Given the description of an element on the screen output the (x, y) to click on. 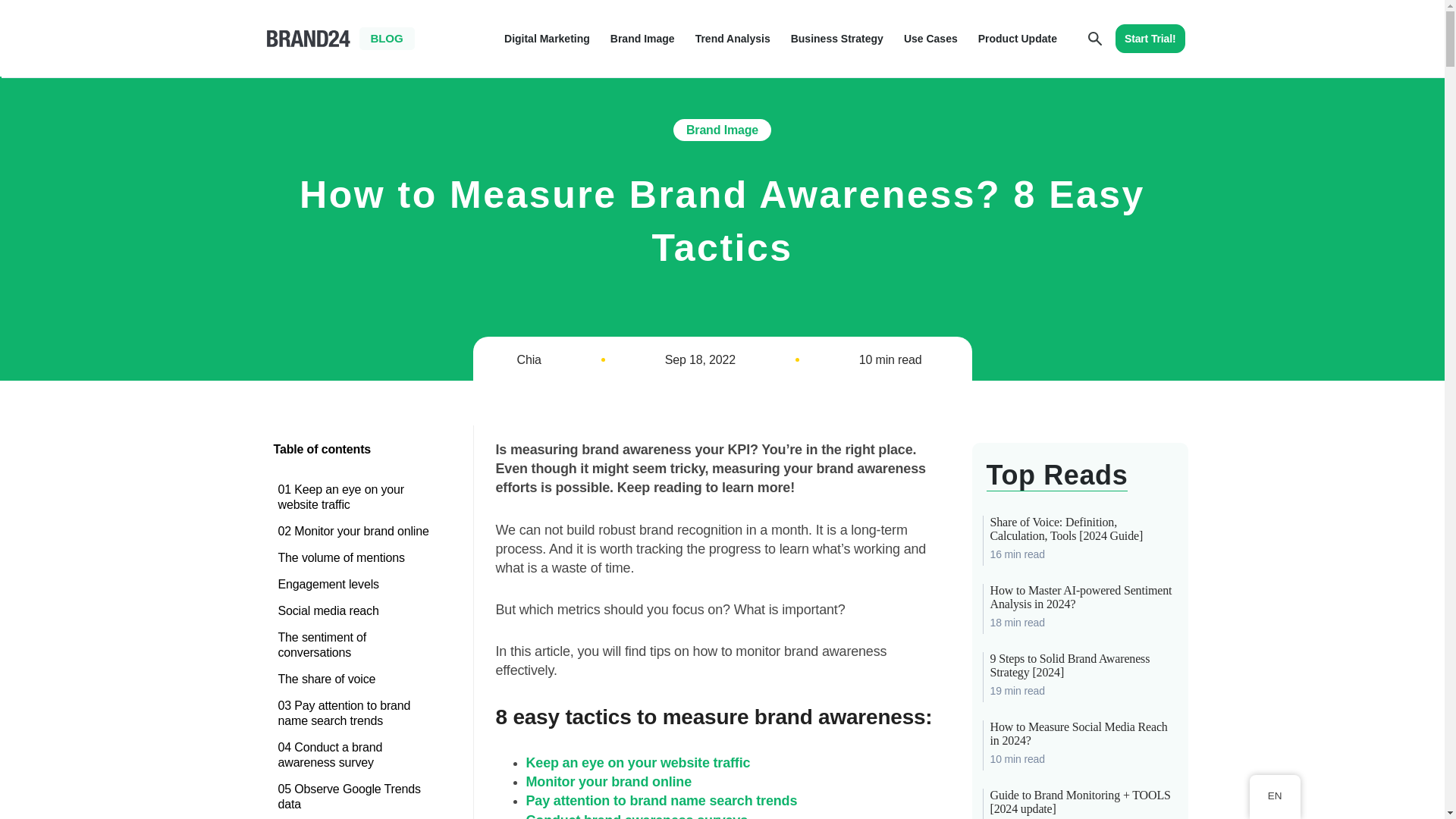
Digital Marketing (546, 38)
02 Monitor your brand online (356, 531)
Pay attention to brand name search trends (661, 800)
The sentiment of conversations (356, 645)
Business Strategy (836, 38)
04 Conduct a brand awareness survey (356, 754)
Brand Image (642, 38)
Brand Image (721, 129)
Conduct brand awareness surveys (636, 816)
Monitor your brand online (609, 781)
BLOG (386, 38)
Product Update (1017, 38)
The share of voice (356, 679)
Trend Analysis (732, 38)
03 Pay attention to brand name search trends (356, 713)
